Given the description of an element on the screen output the (x, y) to click on. 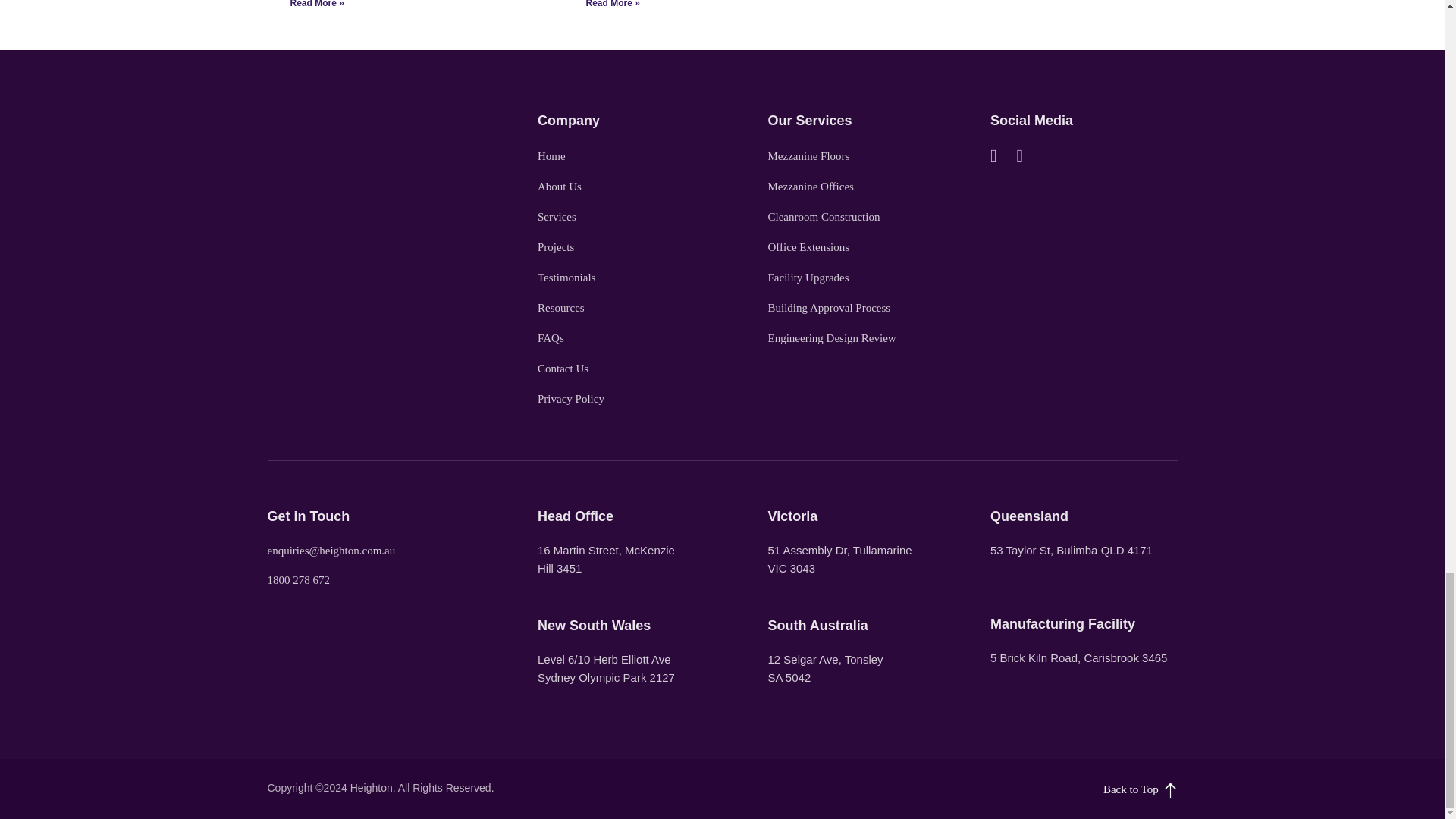
foo-logo-heighton - Heighton (344, 125)
Back to Top (1032, 788)
